Given the description of an element on the screen output the (x, y) to click on. 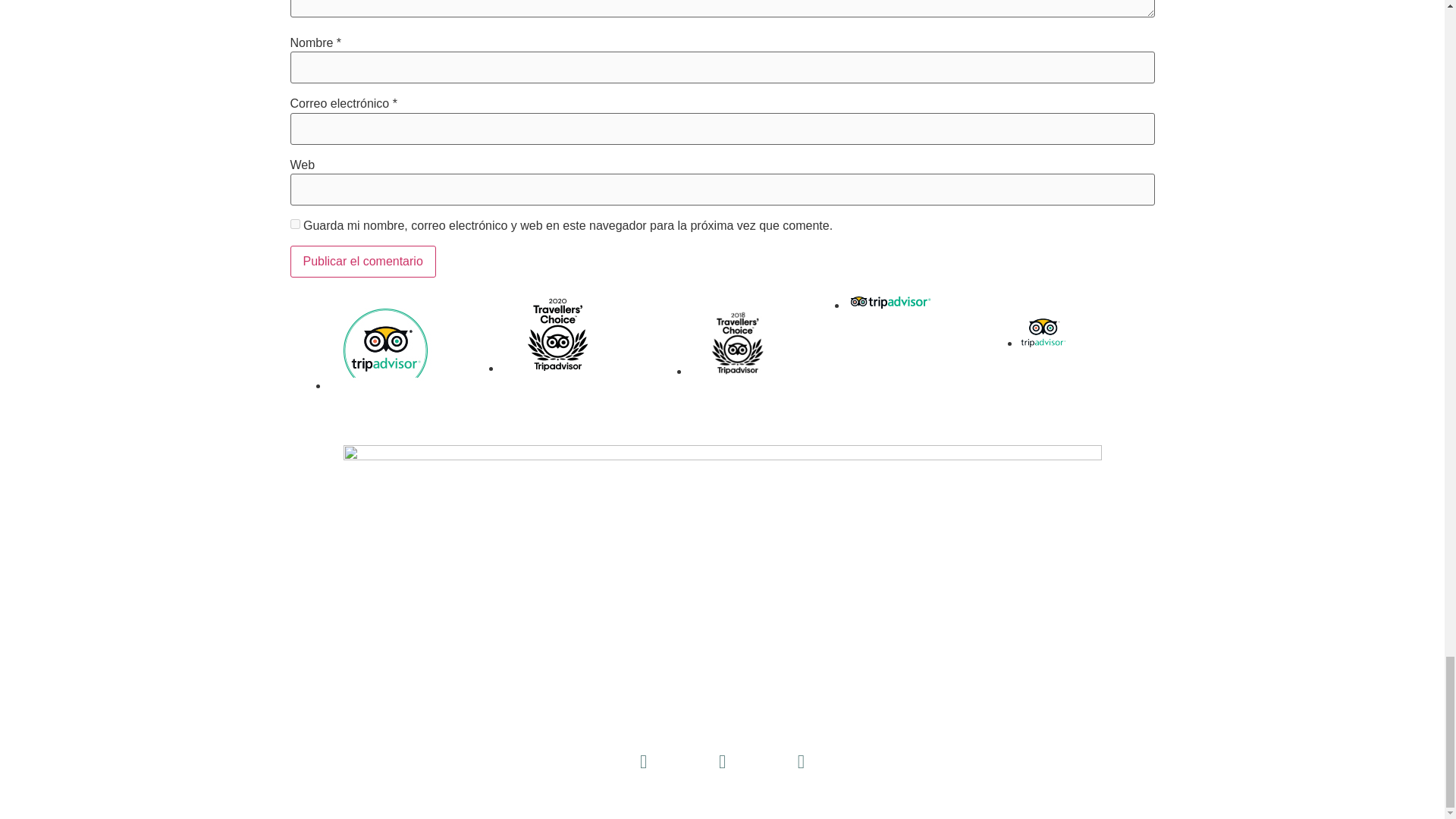
yes (294, 224)
Publicar el comentario (362, 261)
Publicar el comentario (362, 261)
